Given the description of an element on the screen output the (x, y) to click on. 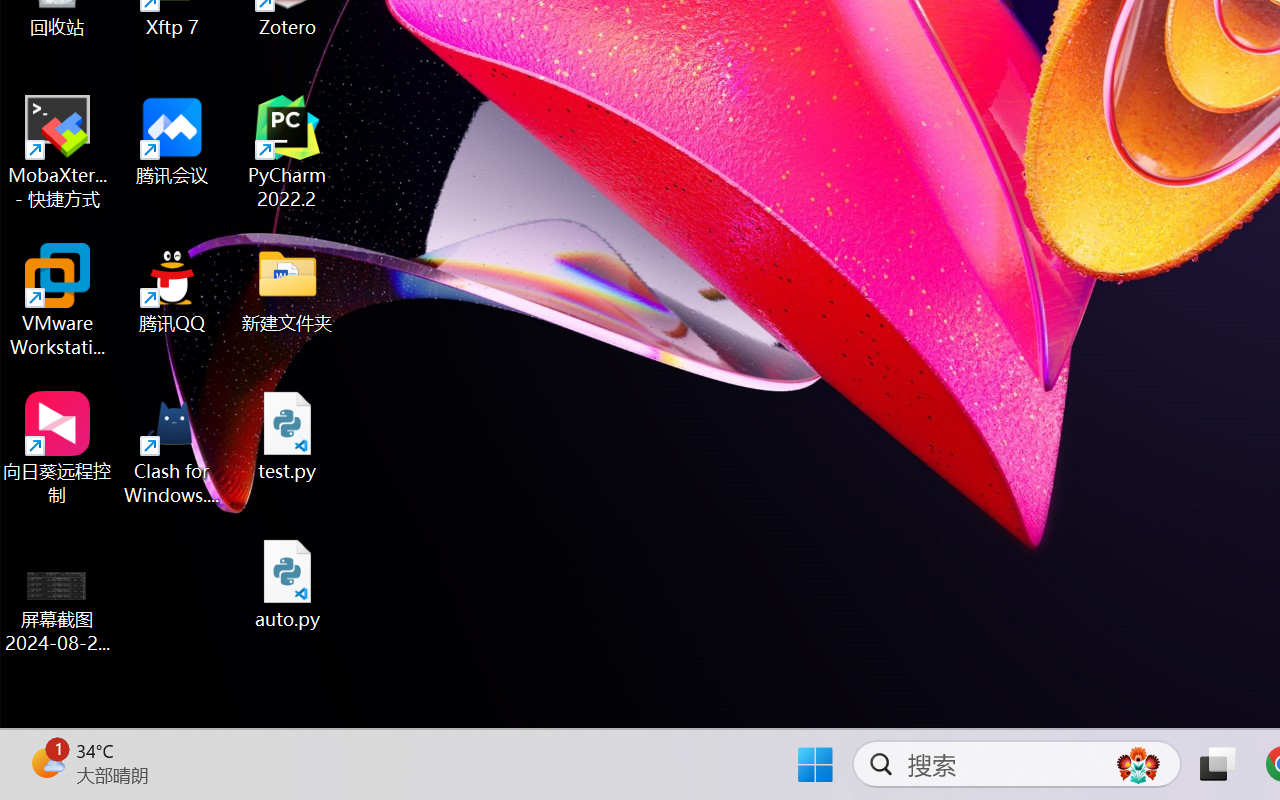
test.py (287, 436)
VMware Workstation Pro (57, 300)
auto.py (287, 584)
